Given the description of an element on the screen output the (x, y) to click on. 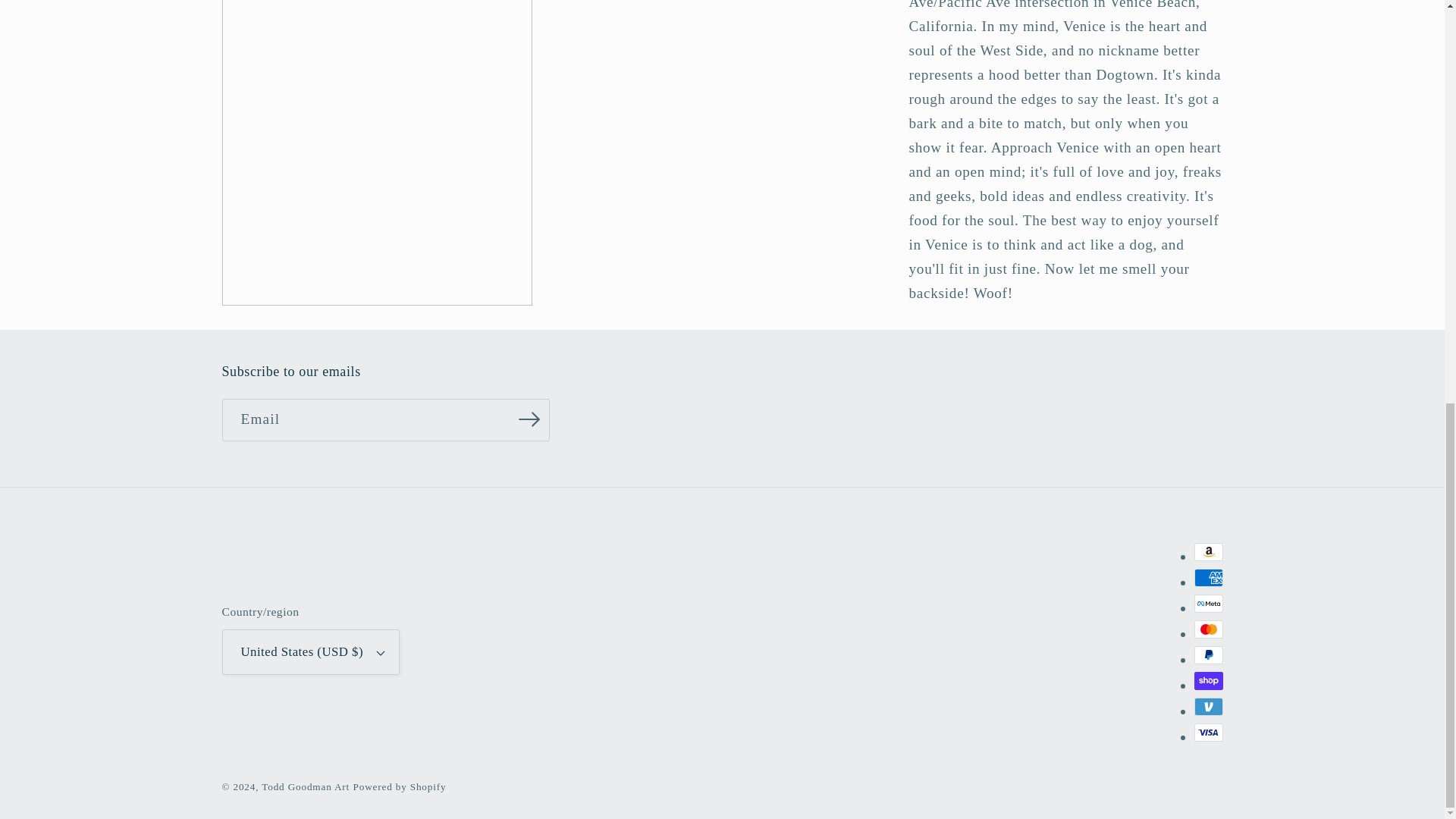
Amazon (1208, 551)
Mastercard (1208, 628)
American Express (1208, 577)
Venmo (1208, 706)
PayPal (1208, 655)
Visa (1208, 732)
Meta Pay (1208, 603)
Shop Pay (1208, 680)
